Given the description of an element on the screen output the (x, y) to click on. 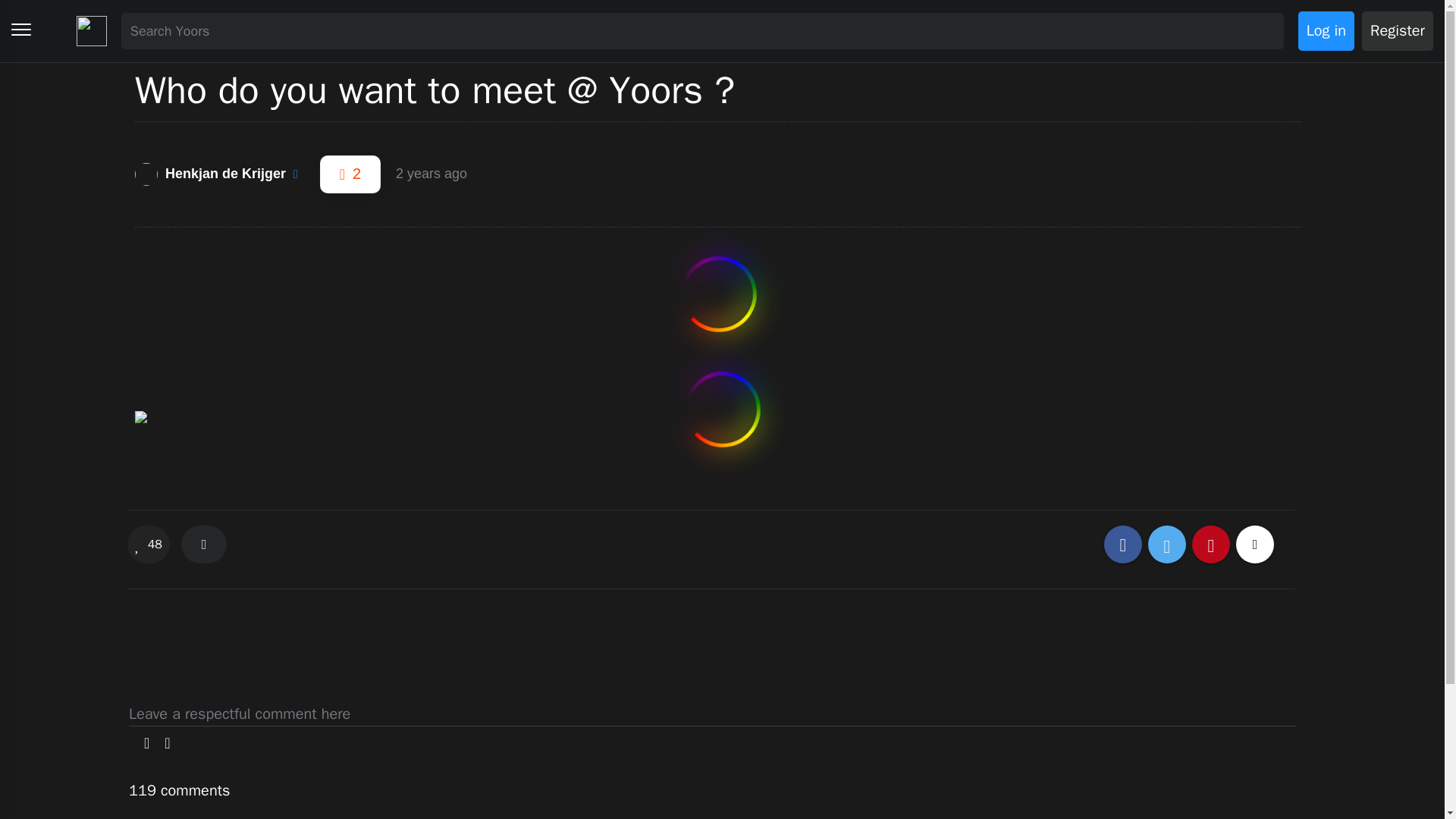
16 March 2022 20:37 (431, 173)
See more networks to share this post on (1255, 544)
Register (1396, 30)
Log in (1326, 30)
Mentions (174, 743)
Henkjan de Krijger (224, 173)
Share on Twitter (1167, 544)
Share on Pinterest (1211, 544)
Photos (154, 743)
